Given the description of an element on the screen output the (x, y) to click on. 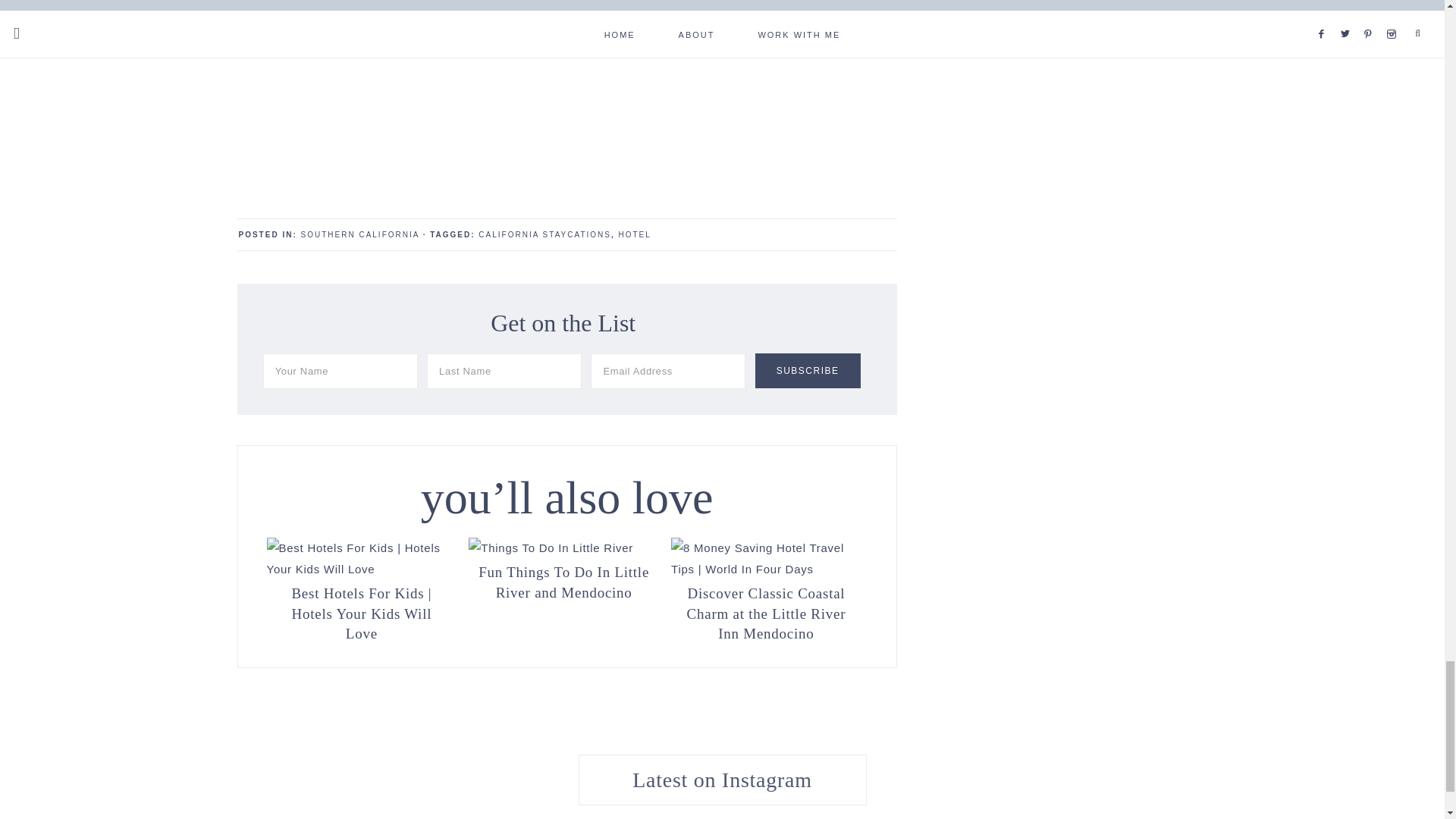
Subscribe (807, 370)
CALIFORNIA STAYCATIONS (545, 234)
Subscribe (807, 370)
HOTEL (634, 234)
SOUTHERN CALIFORNIA (360, 234)
